Given the description of an element on the screen output the (x, y) to click on. 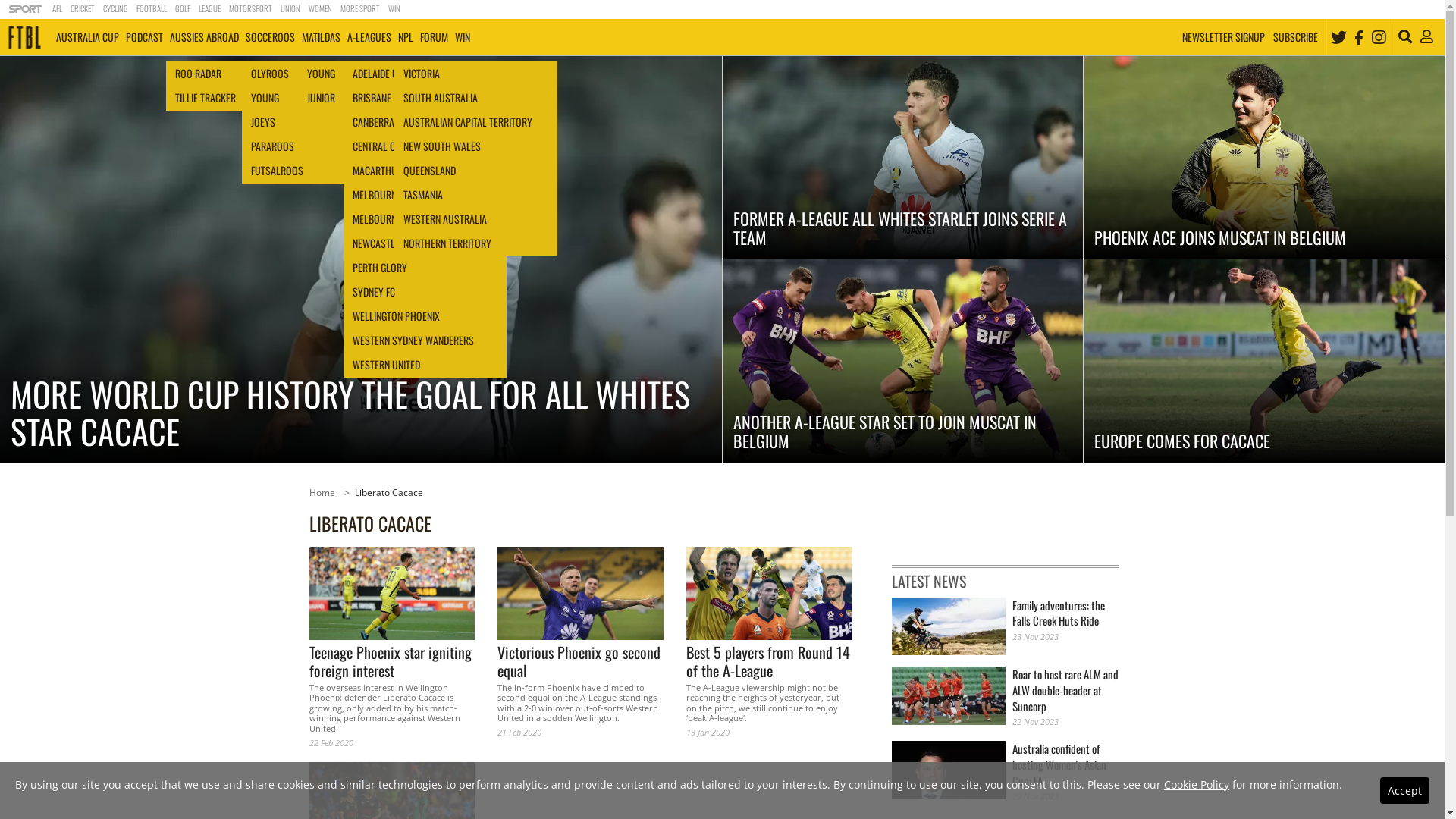
TASMANIA Element type: text (475, 194)
SOUTH AUSTRALIA Element type: text (475, 97)
TILLIE TRACKER Element type: text (247, 97)
JUNIOR Element type: text (379, 97)
  Element type: text (24, 36)
CRICKET Element type: text (81, 9)
PARAROOS Element type: text (323, 146)
Home Element type: text (322, 492)
PODCAST Element type: text (144, 36)
SUBSCRIBE Element type: text (1294, 36)
GOLF Element type: text (182, 9)
NEWCASTLE JETS Element type: text (424, 243)
BRISBANE ROAR Element type: text (424, 97)
FOOTBALL Element type: text (150, 9)
MOTORSPORT Element type: text (250, 9)
AFL Element type: text (56, 9)
ANOTHER A-LEAGUE STAR SET TO JOIN MUSCAT IN BELGIUM Element type: text (901, 360)
FORUM Element type: text (433, 36)
OLYROOS Element type: text (323, 73)
NEW SOUTH WALES Element type: text (475, 146)
FORMER A-LEAGUE ALL WHITES STARLET JOINS SERIE A TEAM Element type: text (901, 157)
AUSSIES ABROAD Element type: text (203, 36)
WELLINGTON PHOENIX Element type: text (424, 316)
WOMEN Element type: text (319, 9)
MORE SPORT Element type: text (359, 9)
MATILDAS Element type: text (320, 36)
NORTHERN TERRITORY Element type: text (475, 243)
CANBERRA UNITED Element type: text (424, 121)
CYCLING Element type: text (114, 9)
EUROPE COMES FOR CACACE Element type: text (1263, 360)
Accept Element type: text (1404, 790)
ROO RADAR Element type: text (247, 73)
WIN Element type: text (393, 9)
PHOENIX ACE JOINS MUSCAT IN BELGIUM Element type: text (1263, 157)
QUEENSLAND Element type: text (475, 170)
Family adventures: the Falls Creek Huts Ride
23 Nov 2023 Element type: text (1005, 626)
LEAGUE Element type: text (209, 9)
SOCCEROOS Element type: text (269, 36)
AUSTRALIA CUP Element type: text (87, 36)
A-LEAGUES Element type: text (368, 36)
MORE WORLD CUP HISTORY THE GOAL FOR ALL WHITES STAR CACACE Element type: text (361, 259)
MACARTHUR FC Element type: text (424, 170)
CENTRAL COAST MARINERS Element type: text (424, 146)
Liberato Cacace Element type: text (388, 492)
Follow on Twitter Element type: hover (1339, 36)
SYDNEY FC Element type: text (424, 291)
VICTORIA Element type: text (475, 73)
ADELAIDE UNITED Element type: text (424, 73)
WESTERN UNITED Element type: text (424, 364)
MELBOURNE VICTORY Element type: text (424, 219)
NEWSLETTER SIGNUP Element type: text (1223, 36)
AUSTRALIAN CAPITAL TERRITORY Element type: text (475, 121)
UNION Element type: text (290, 9)
  Element type: text (25, 9)
WESTERN AUSTRALIA Element type: text (475, 219)
Like on Facebook Element type: hover (1358, 36)
NPL Element type: text (405, 36)
Cookie Policy Element type: text (1196, 784)
WESTERN SYDNEY WANDERERS Element type: text (424, 340)
MELBOURNE CITY Element type: text (424, 194)
YOUNG Element type: text (379, 73)
PERTH GLORY Element type: text (424, 267)
Follow on Instagram Element type: hover (1378, 36)
YOUNG Element type: text (323, 97)
WIN Element type: text (462, 36)
FUTSALROOS Element type: text (323, 170)
JOEYS Element type: text (323, 121)
